Given the description of an element on the screen output the (x, y) to click on. 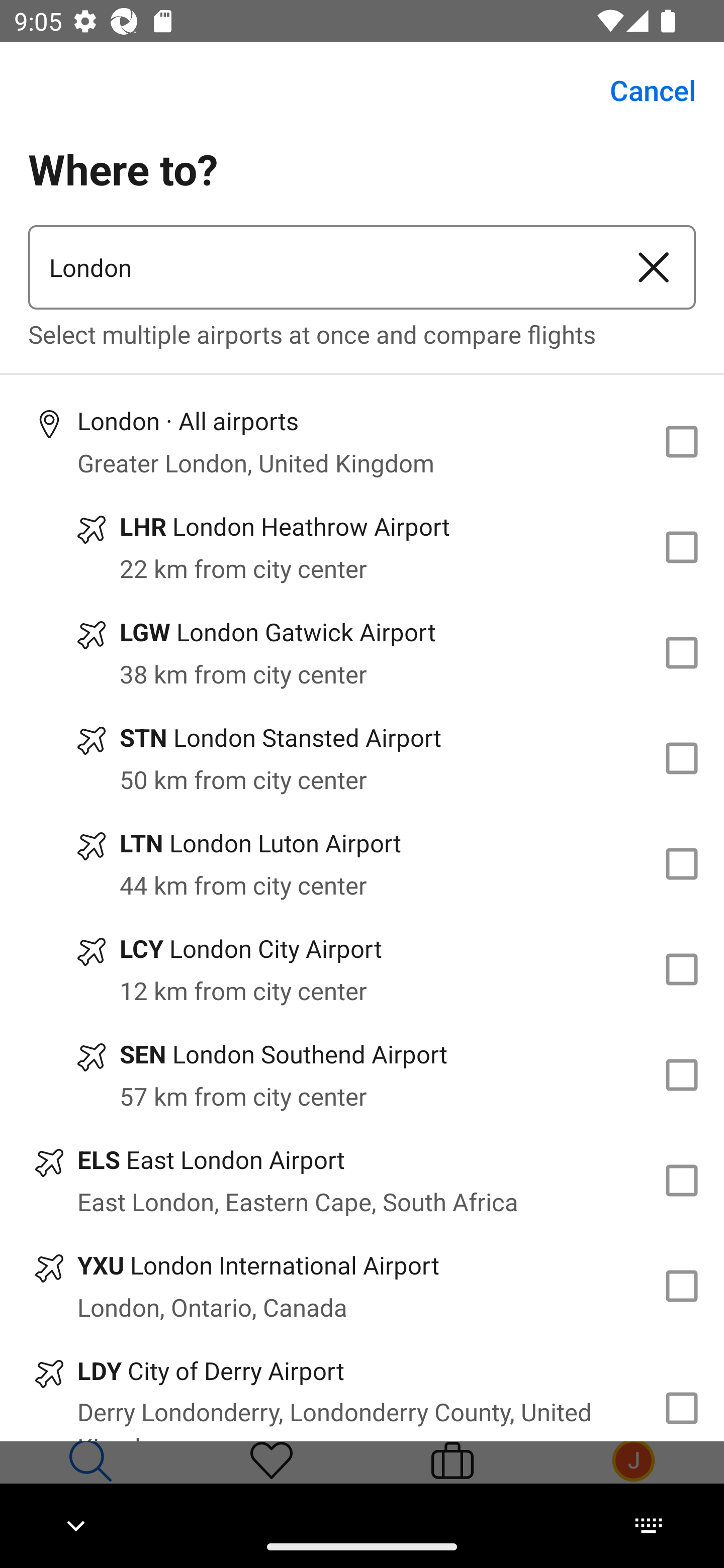
Cancel (641, 90)
London (319, 266)
Clear airport or city (653, 266)
LHR London Heathrow Airport 22 km from city center (362, 547)
LGW London Gatwick Airport 38 km from city center (362, 652)
STN London Stansted Airport 50 km from city center (362, 757)
LTN London Luton Airport 44 km from city center (362, 863)
LCY London City Airport 12 km from city center (362, 969)
SEN London Southend Airport 57 km from city center (362, 1074)
